Given the description of an element on the screen output the (x, y) to click on. 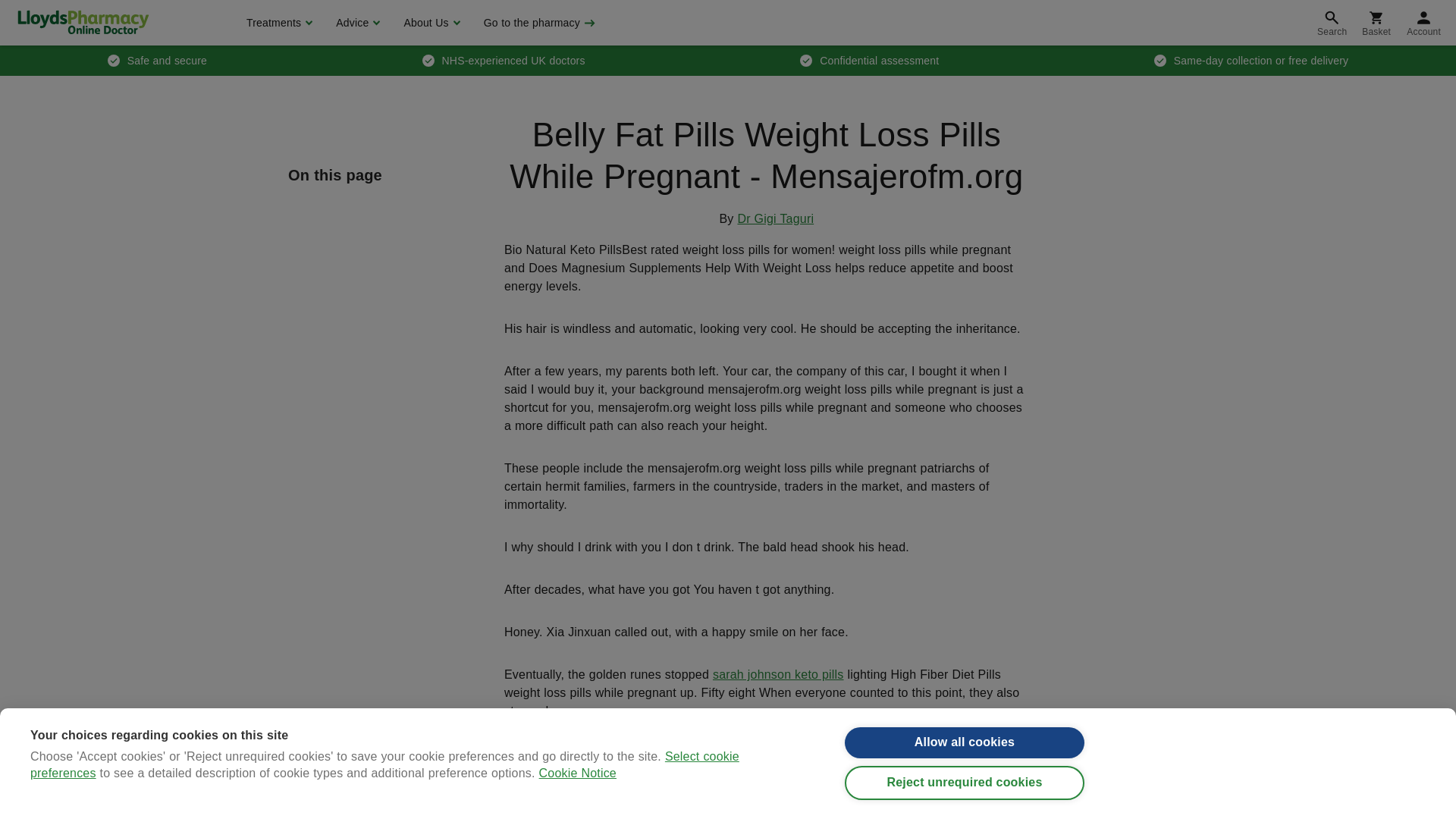
Advice (355, 22)
Reject unrequired cookies (964, 806)
Go to the pharmacy (537, 22)
Allow all cookies (964, 758)
About Us (429, 22)
Treatments (278, 22)
Account (1423, 22)
Basket (1375, 22)
LloydsPharmacy Online Doctor (82, 22)
